Given the description of an element on the screen output the (x, y) to click on. 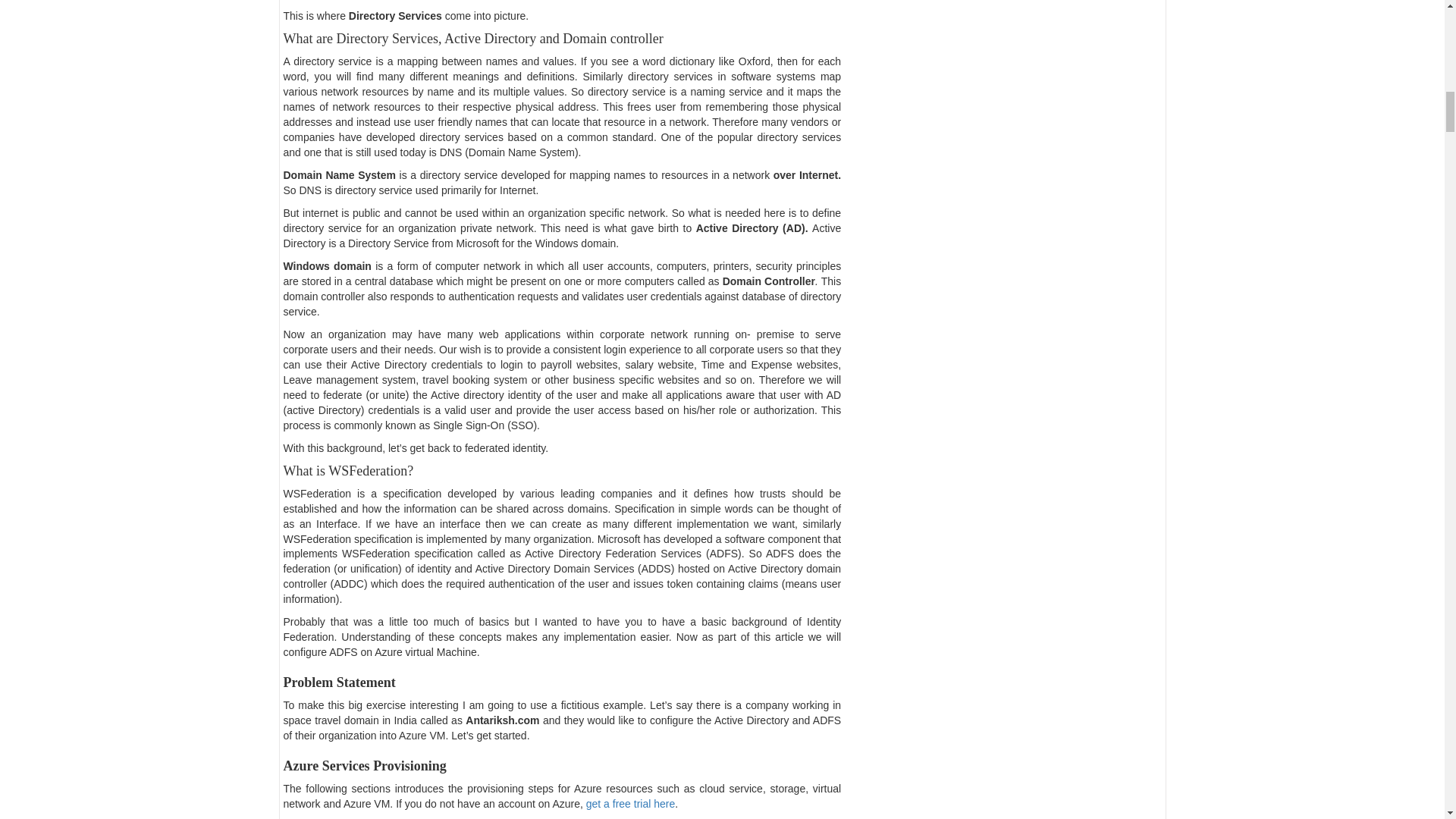
Azure Trial (630, 803)
